Given the description of an element on the screen output the (x, y) to click on. 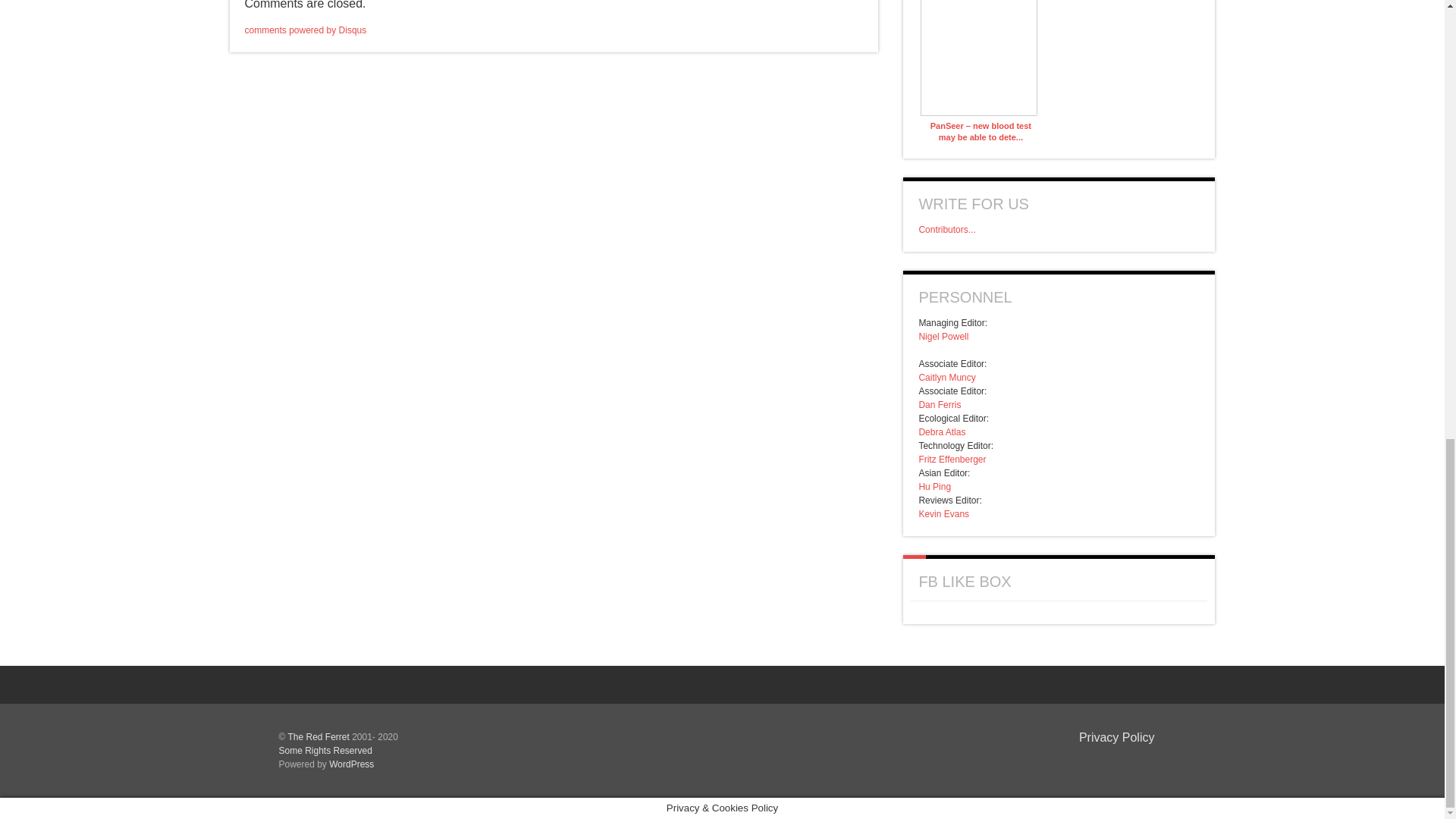
Caitlyn Muncy (946, 377)
Built by Bairwell (1130, 761)
Fritz Effenberger (951, 459)
Debra Atlas (941, 431)
Contributors... (946, 229)
Kevin Evans (943, 513)
comments powered by Disqus (305, 30)
Dan Ferris (939, 404)
Nigel Powell (943, 336)
Hu Ping (934, 486)
